Given the description of an element on the screen output the (x, y) to click on. 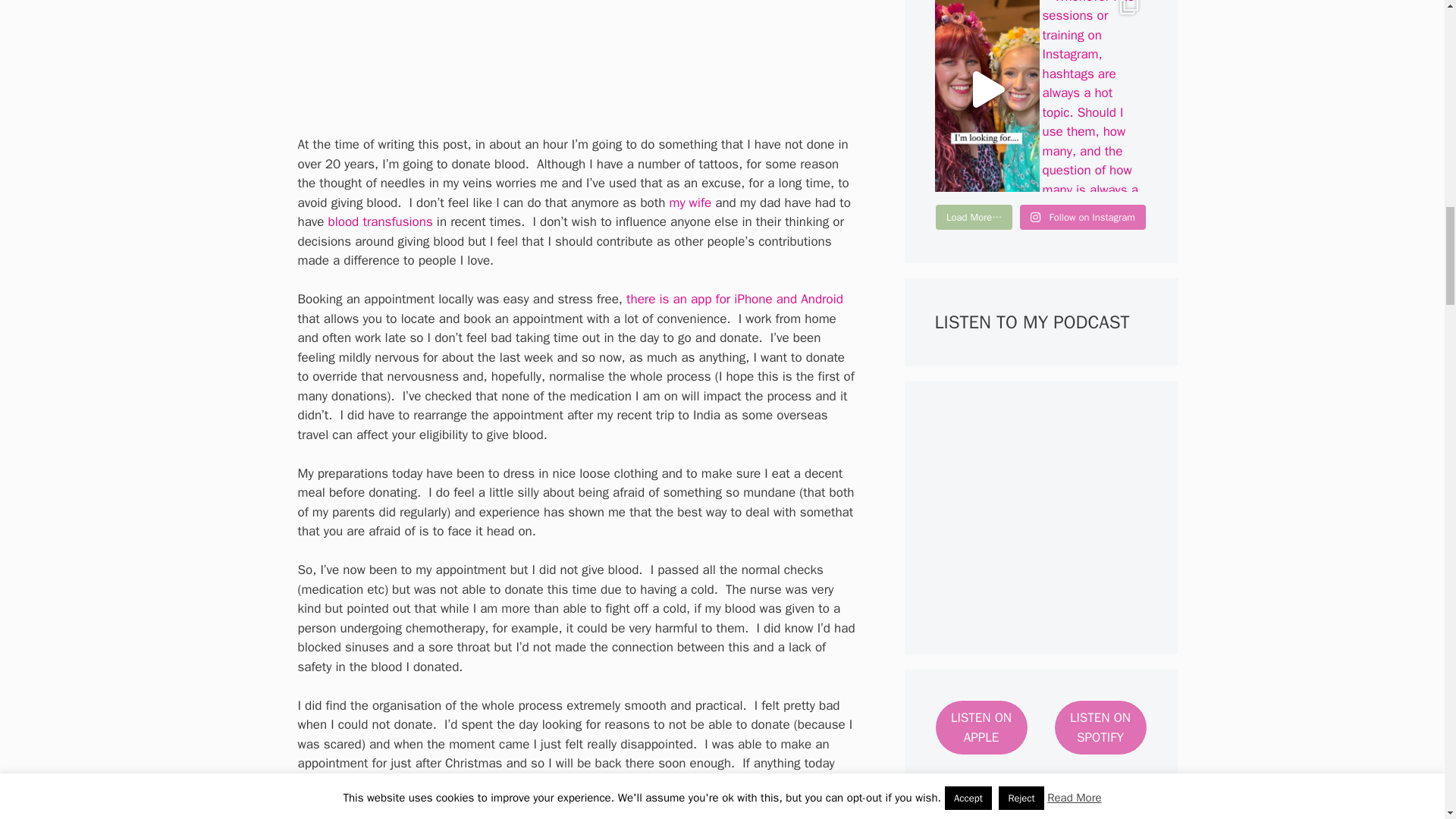
there is an app for iPhone and Android (734, 299)
blood transfusions (380, 221)
my wife (689, 202)
